Given the description of an element on the screen output the (x, y) to click on. 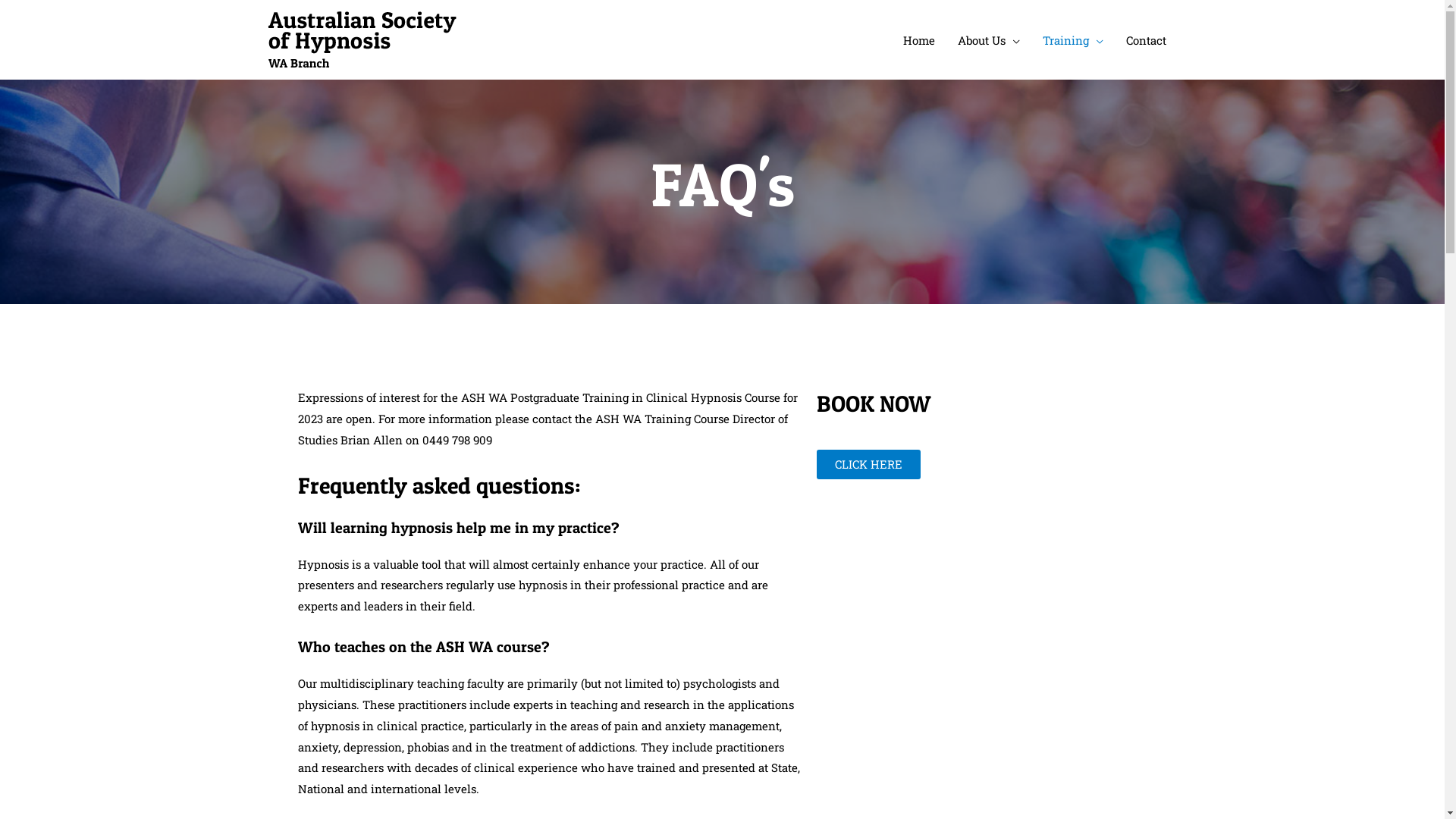
CLICK HERE Element type: text (867, 464)
About Us Element type: text (988, 39)
Home Element type: text (918, 39)
Training Element type: text (1072, 39)
Contact Element type: text (1145, 39)
